Given the description of an element on the screen output the (x, y) to click on. 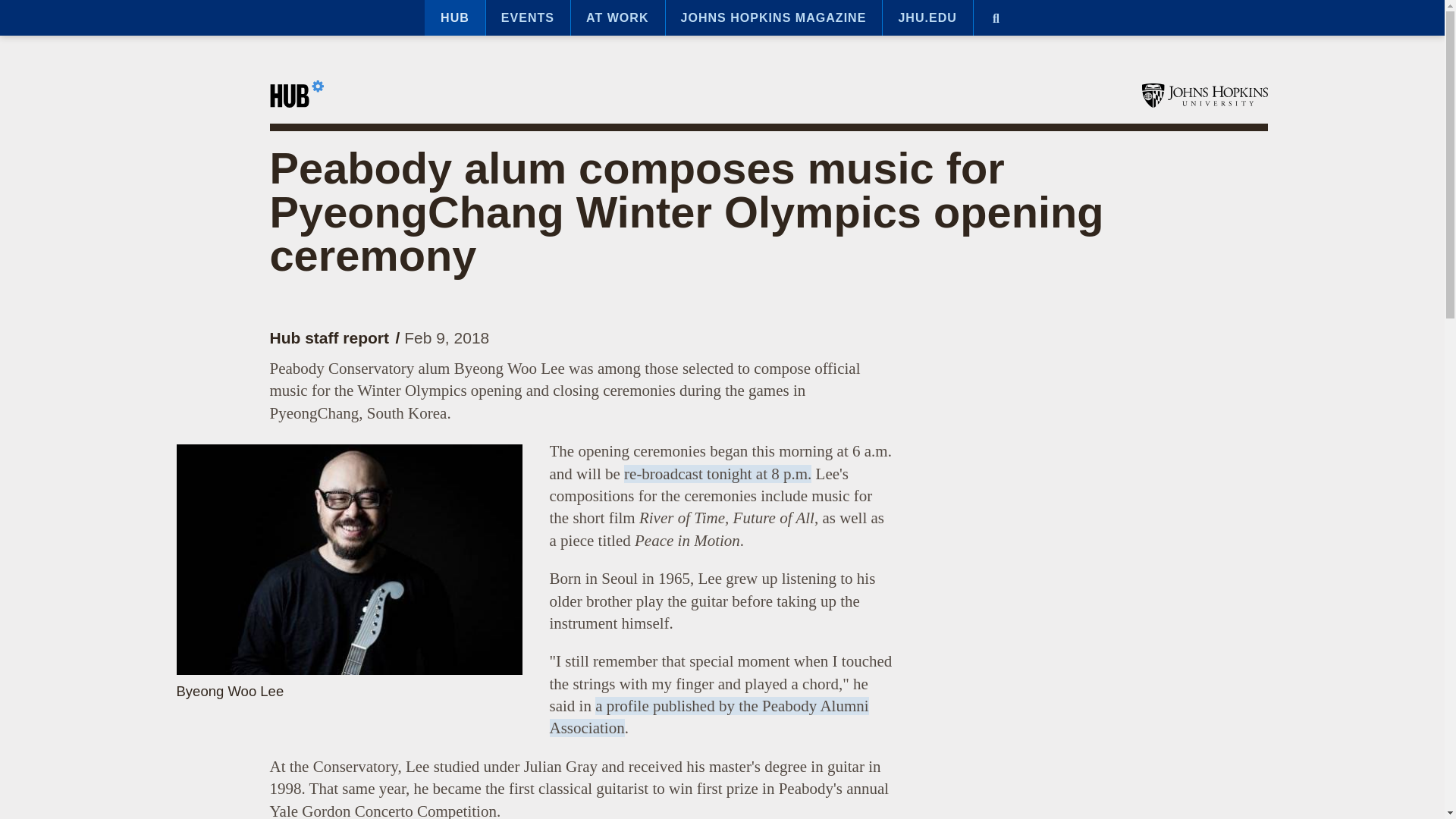
Johns Hopkins University (1204, 95)
EVENTS (527, 18)
JHU.EDU (927, 18)
HUB (454, 18)
JOHNS HOPKINS MAGAZINE (773, 18)
AT WORK (616, 18)
re-broadcast tonight at 8 p.m. (717, 474)
